Given the description of an element on the screen output the (x, y) to click on. 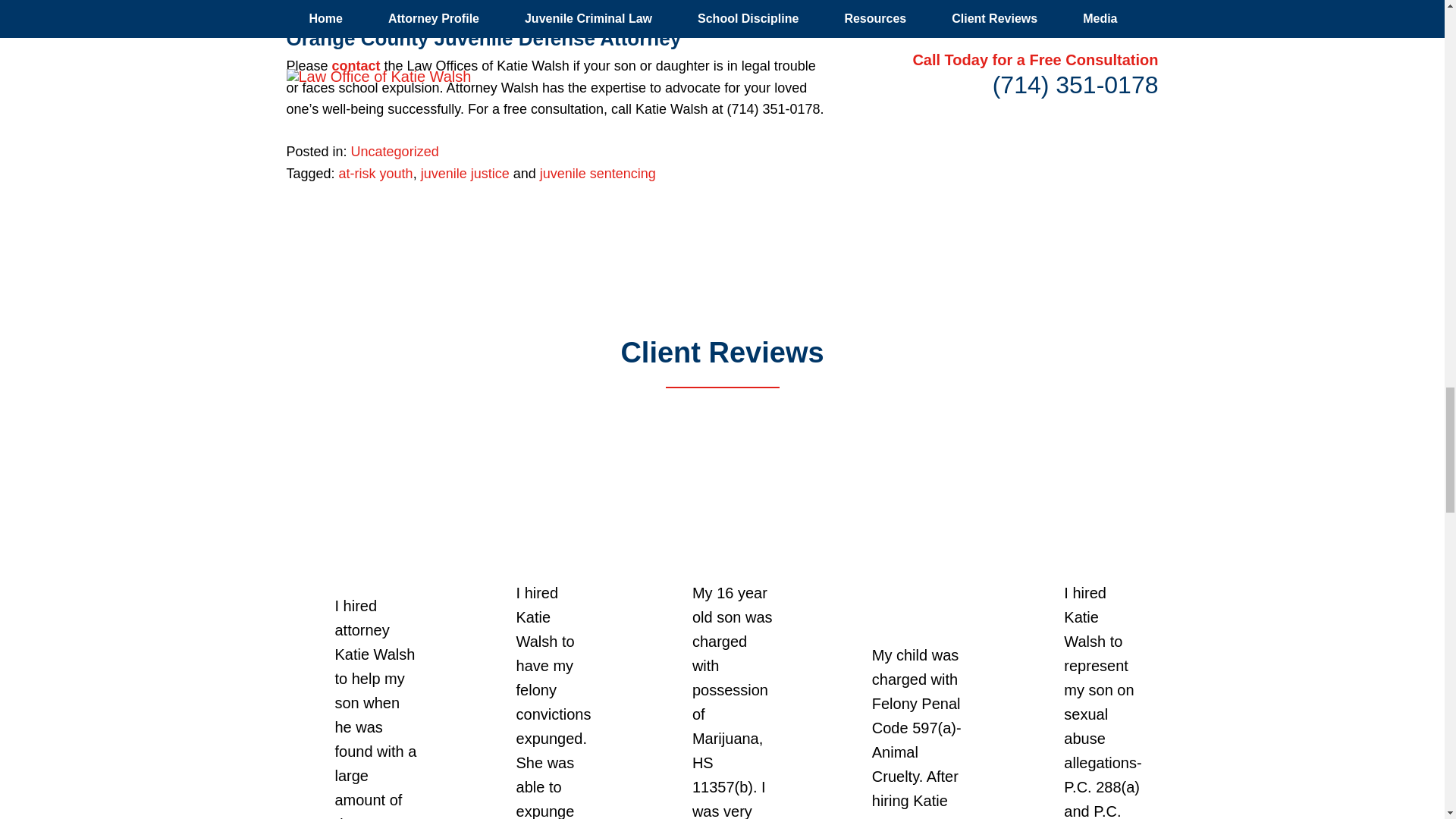
at-risk youth (376, 173)
contact (355, 65)
Uncategorized (394, 151)
juvenile justice (464, 173)
juvenile sentencing (598, 173)
